Given the description of an element on the screen output the (x, y) to click on. 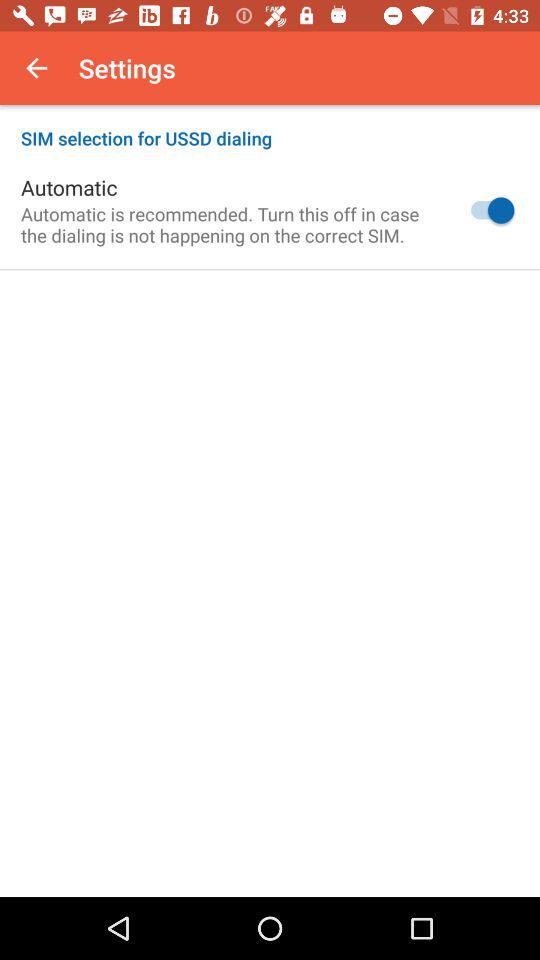
press icon above the automatic icon (270, 127)
